Given the description of an element on the screen output the (x, y) to click on. 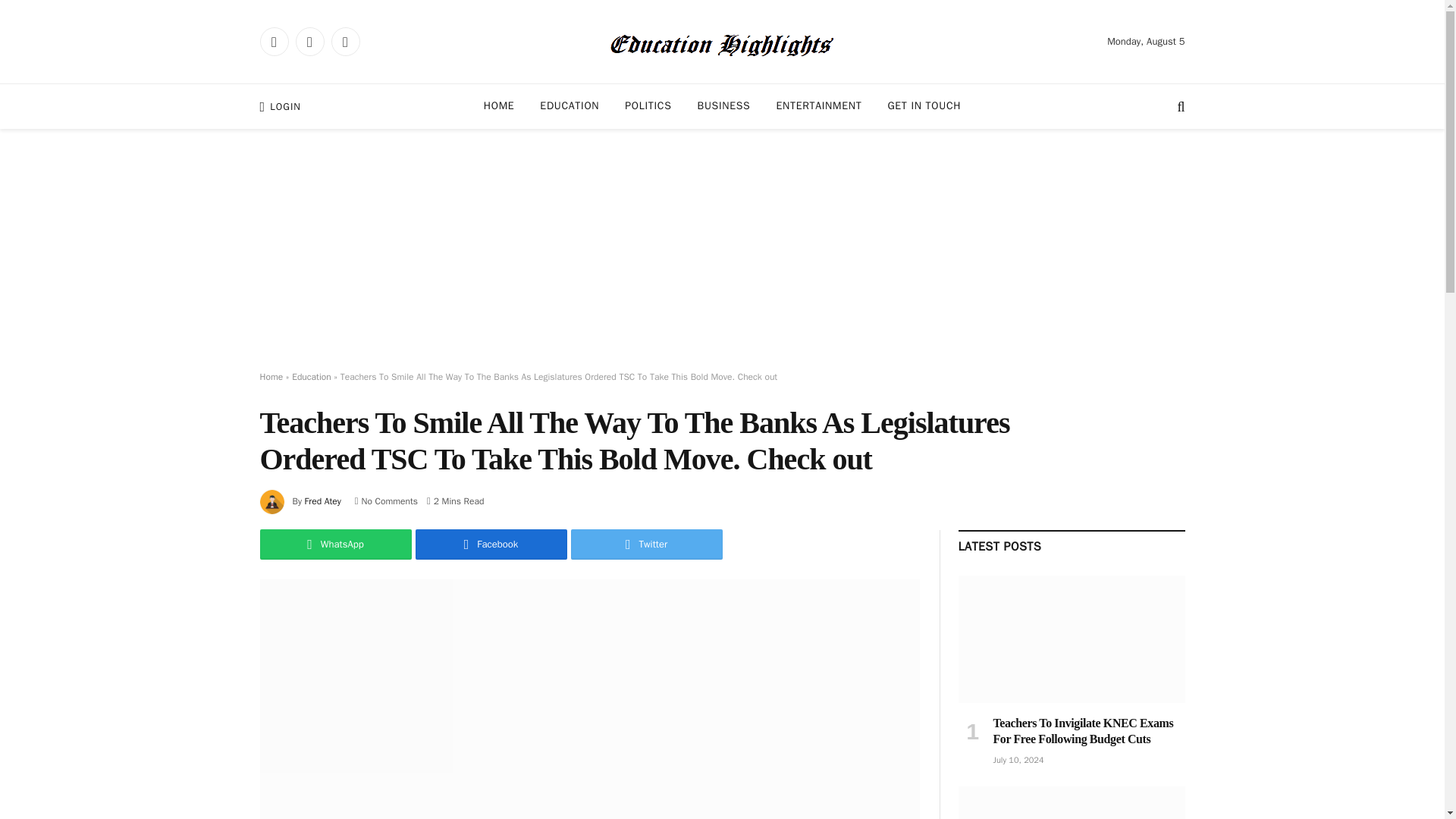
WhatsApp (334, 544)
Twitter (646, 544)
Share on Facebook (490, 544)
BUSINESS (723, 106)
Education (311, 377)
GET IN TOUCH (924, 106)
HOME (498, 106)
Posts by Fred Atey (322, 500)
Facebook (273, 41)
Facebook (490, 544)
Instagram (344, 41)
Fred Atey (322, 500)
No Comments (386, 500)
Home (270, 377)
